Given the description of an element on the screen output the (x, y) to click on. 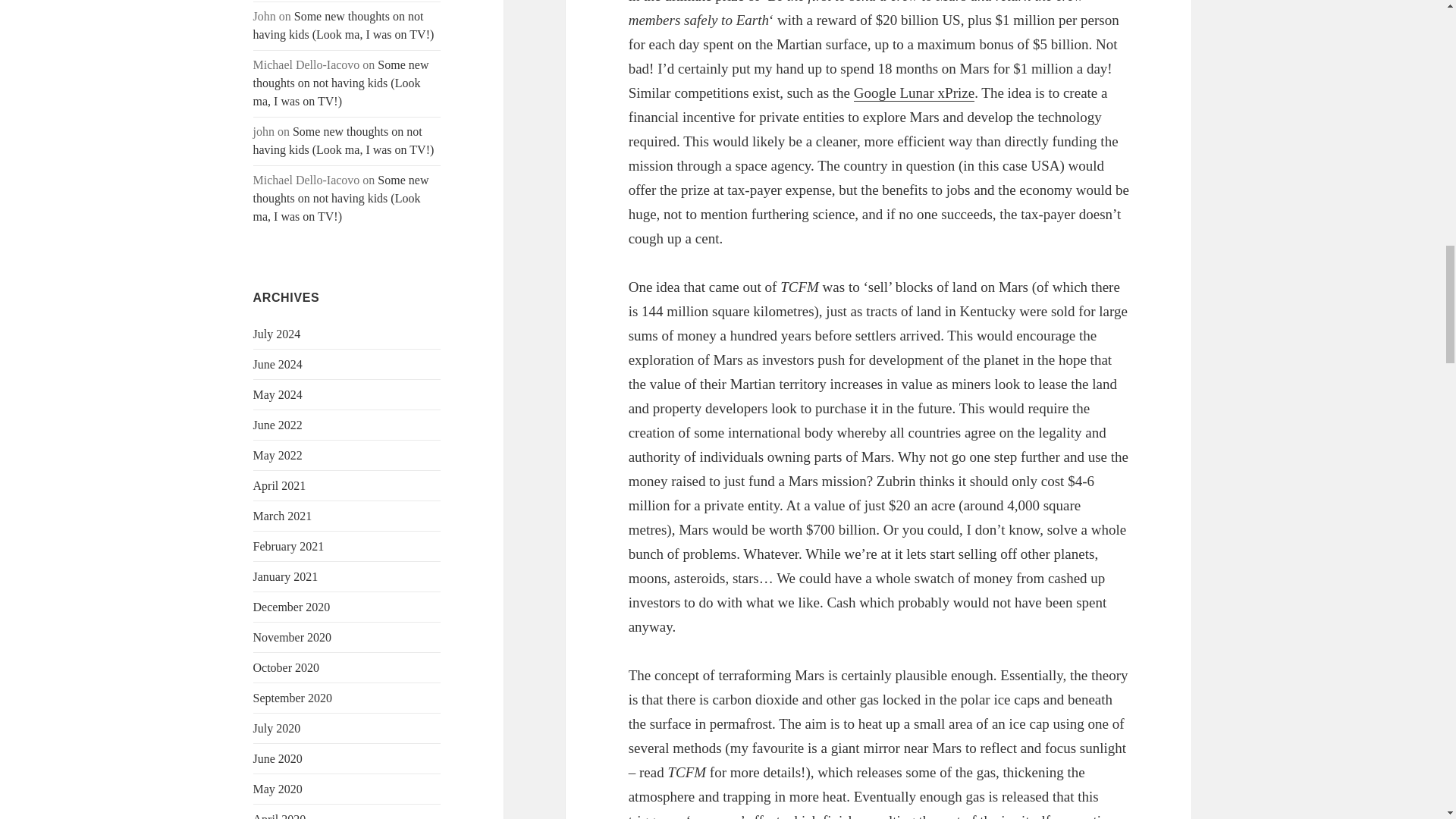
March 2021 (283, 515)
December 2020 (291, 606)
July 2020 (277, 727)
May 2022 (277, 454)
April 2021 (279, 485)
October 2020 (286, 667)
July 2024 (277, 333)
June 2022 (277, 424)
January 2021 (285, 576)
June 2024 (277, 364)
February 2021 (288, 545)
September 2020 (292, 697)
May 2024 (277, 394)
November 2020 (292, 636)
